Given the description of an element on the screen output the (x, y) to click on. 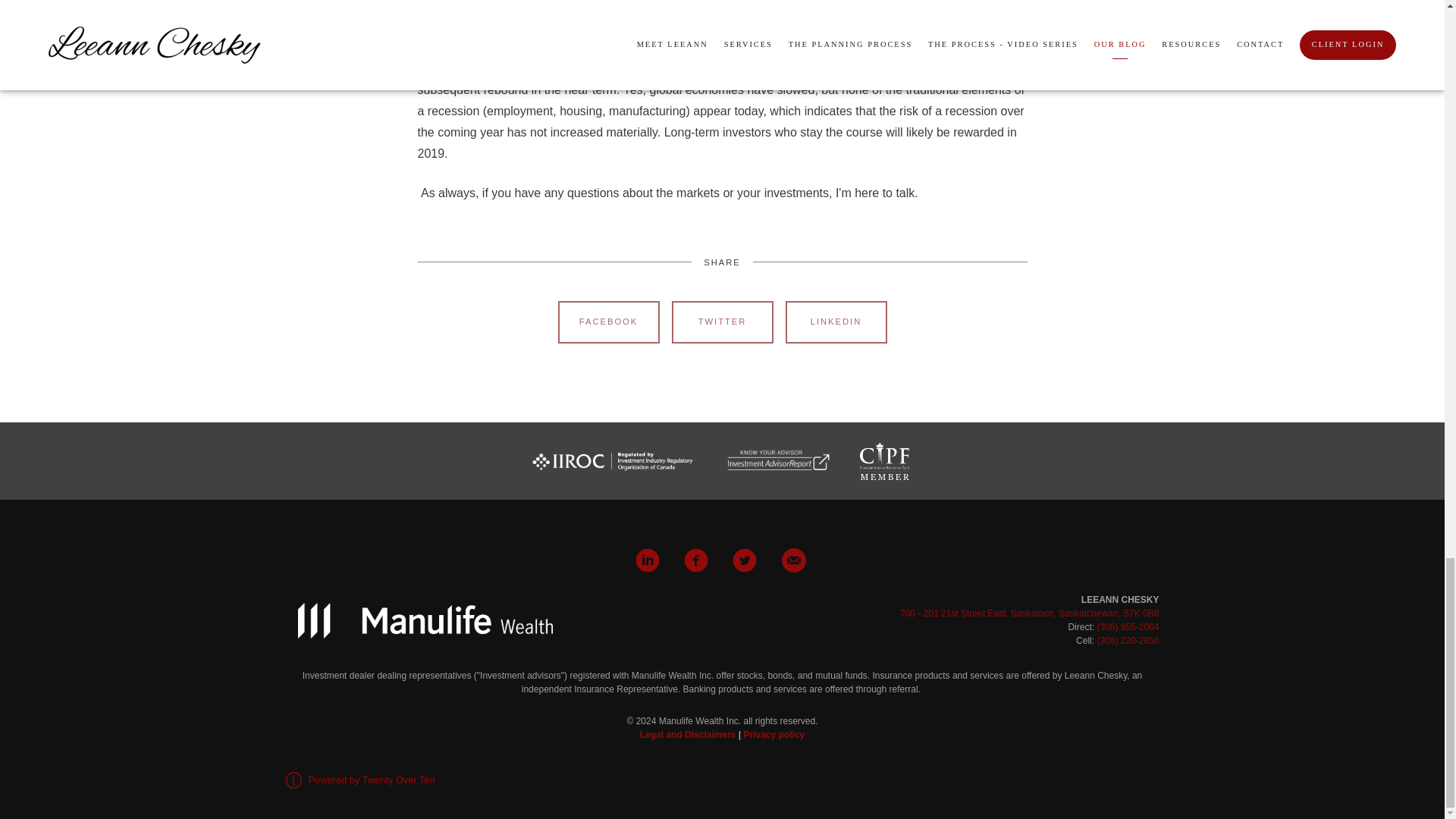
700 - 201 21st Street East, Saskatoon, Saskatchewan, S7K 0B8 (1028, 613)
TWITTER (722, 322)
Privacy policy (774, 734)
FACEBOOK (608, 322)
LINKEDIN (836, 322)
